Given the description of an element on the screen output the (x, y) to click on. 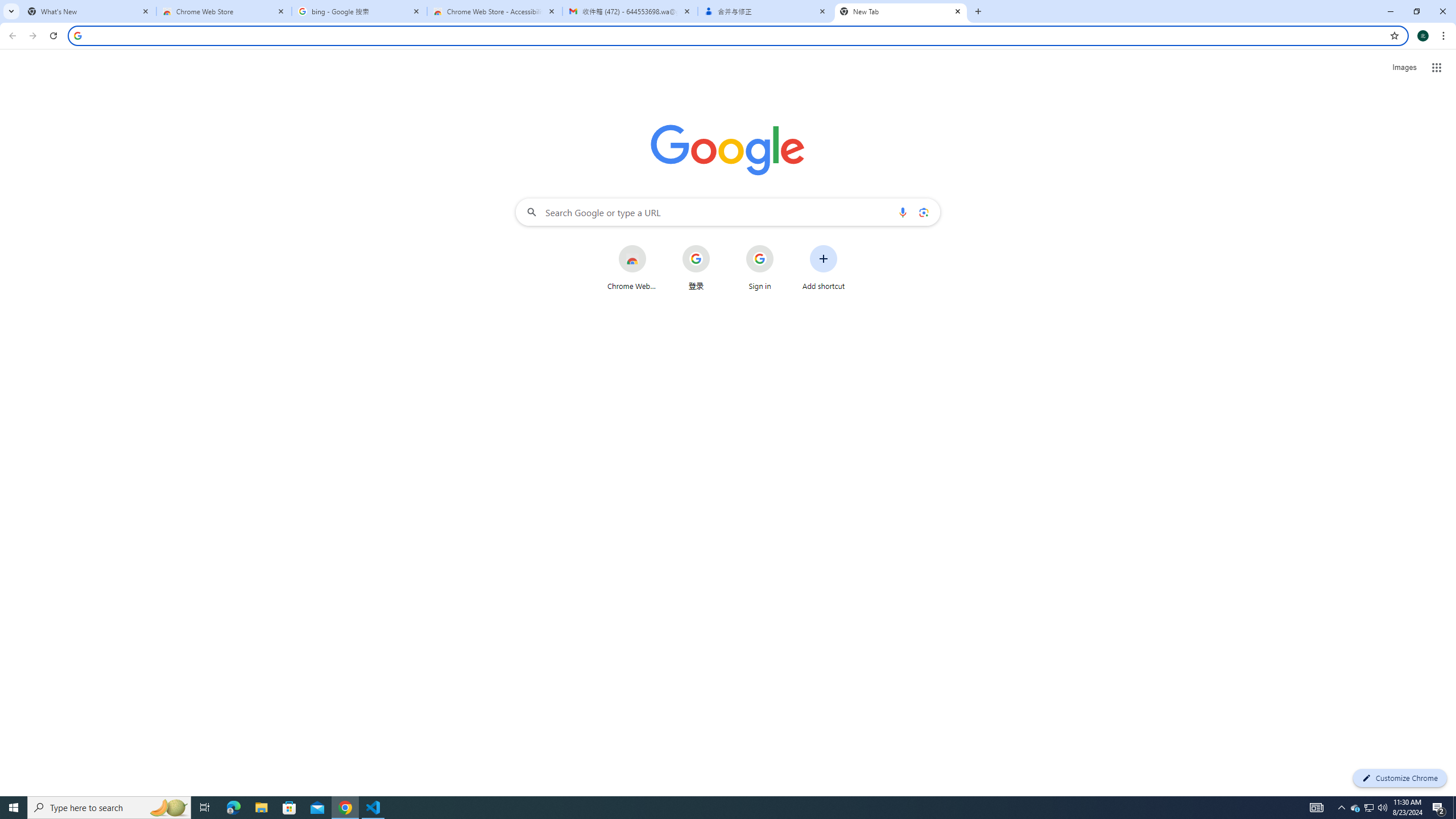
Calendar, row 4 of 5 and column 1 of 3 in the first section (1293, 294)
More actions for Sign in shortcut (782, 245)
Chat, row 3 of 5 and column 1 of 3 in the first section (1293, 239)
Add shortcut (824, 267)
Contacts, row 3 of 5 and column 2 of 3 in the first section (1348, 239)
What's New (88, 11)
Search Google or type a URL (727, 212)
